Given the description of an element on the screen output the (x, y) to click on. 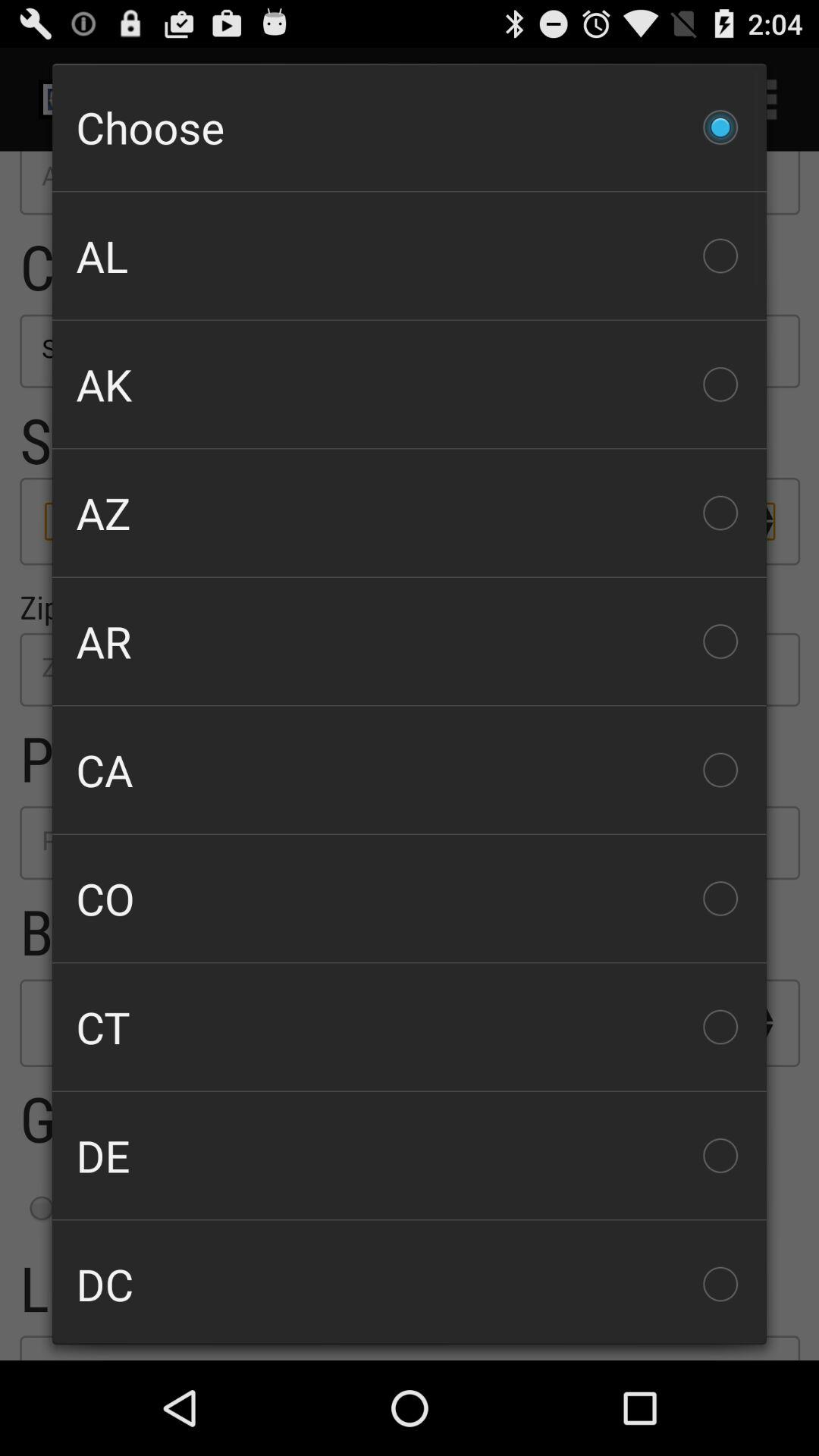
open ak icon (409, 384)
